Given the description of an element on the screen output the (x, y) to click on. 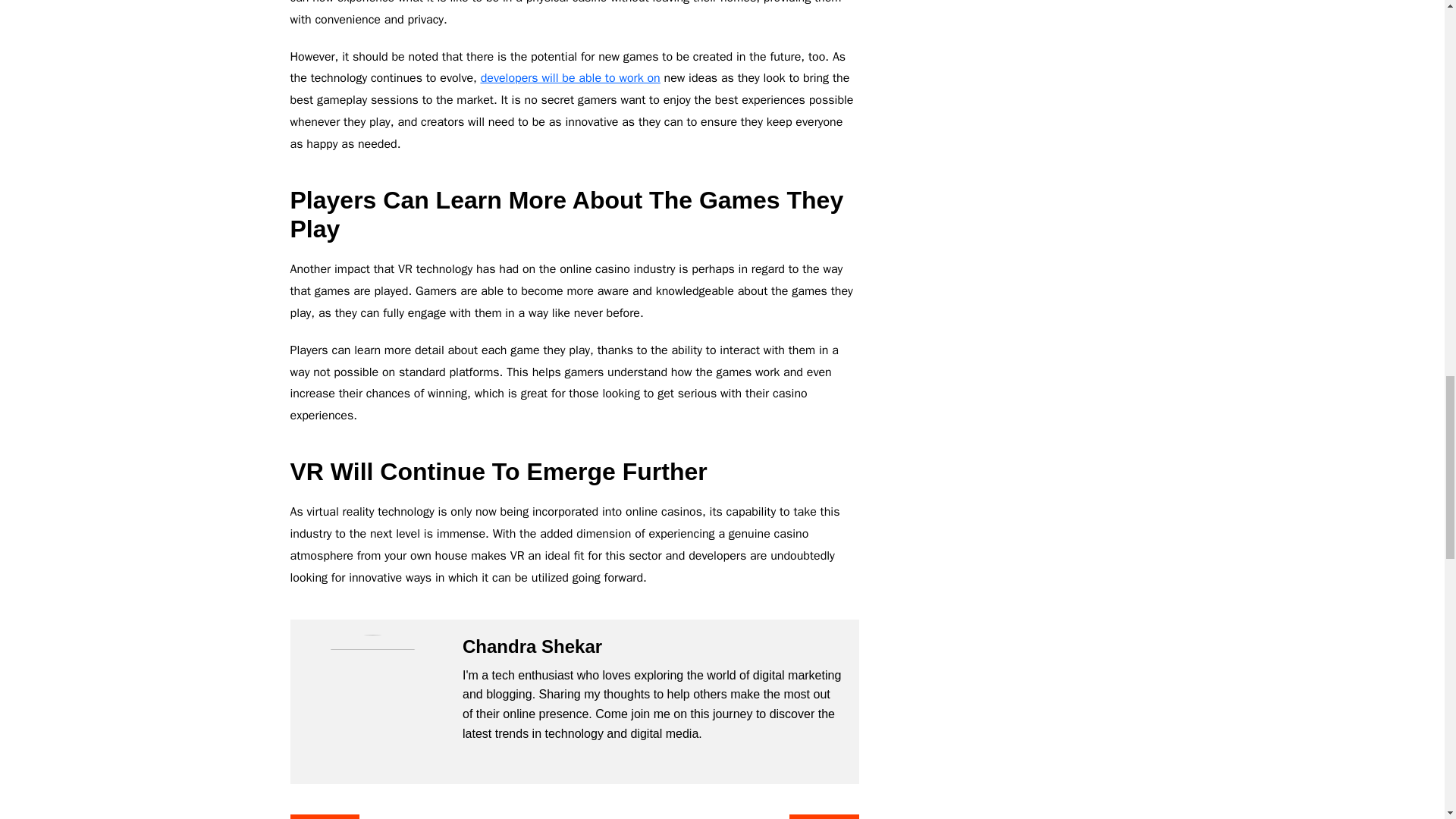
Next (824, 816)
Prev (323, 816)
developers will be able to work on (570, 77)
